Given the description of an element on the screen output the (x, y) to click on. 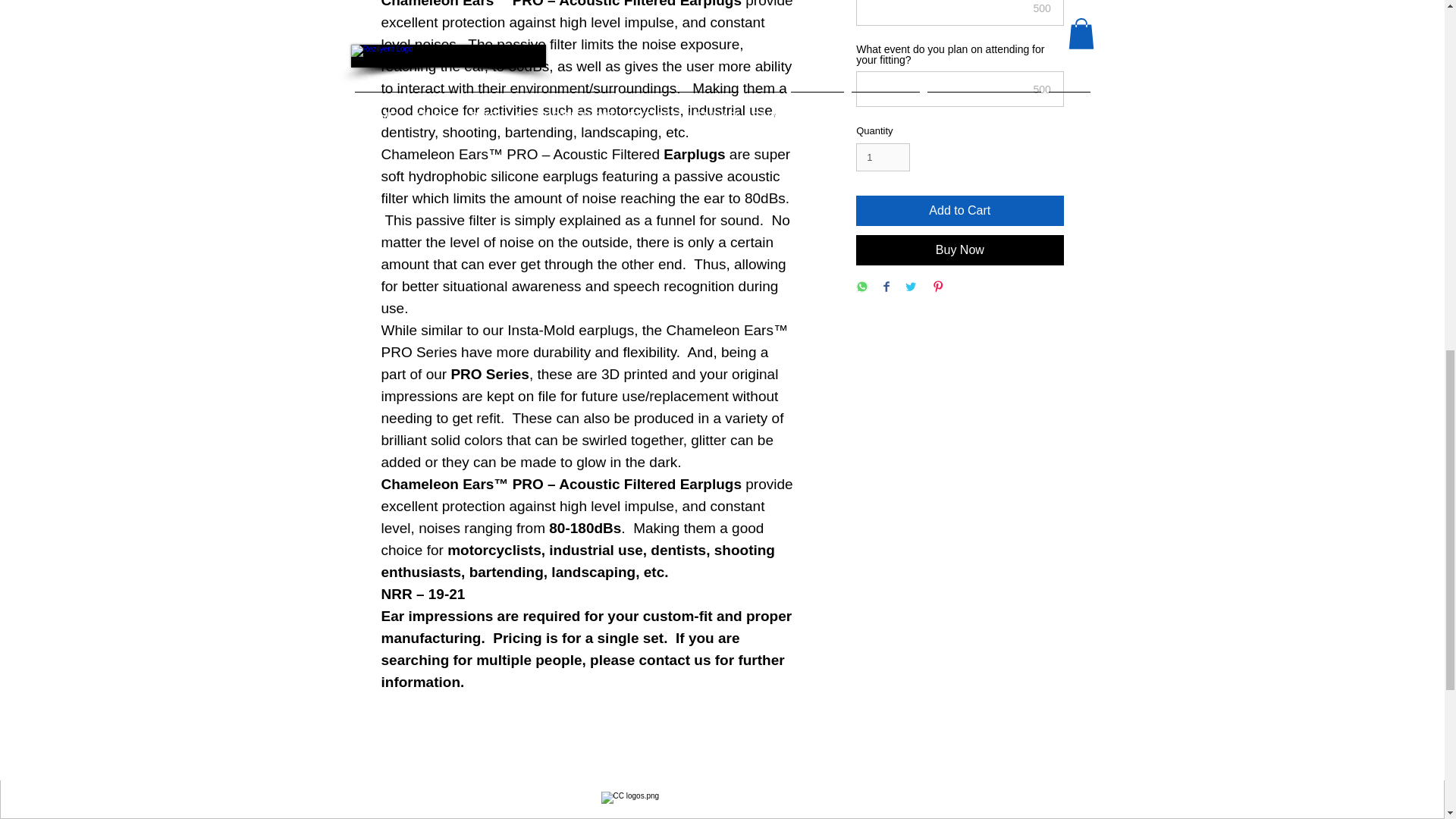
Add to Cart (959, 210)
1 (883, 157)
Buy Now (959, 250)
